Given the description of an element on the screen output the (x, y) to click on. 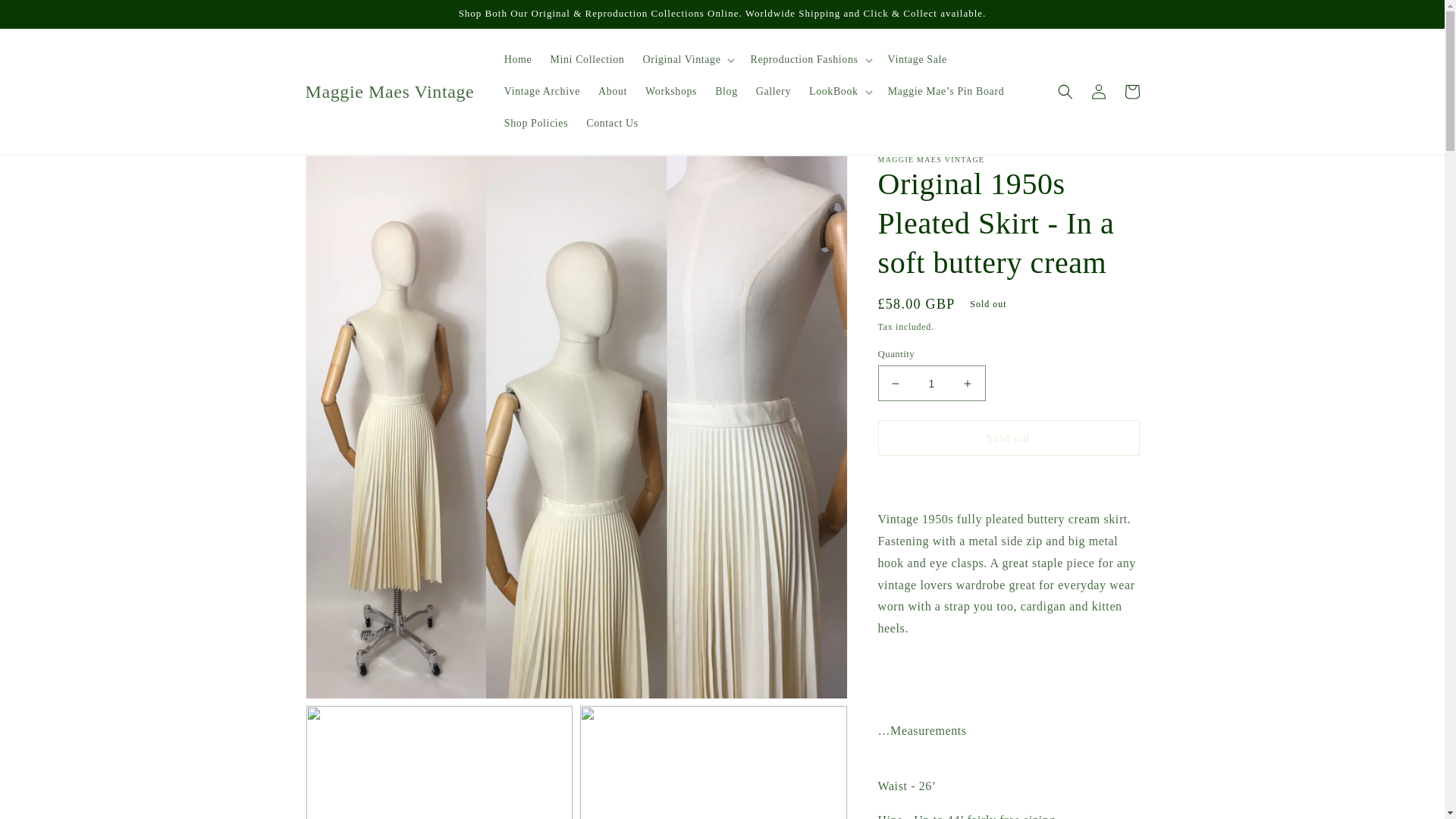
Skip to content (45, 17)
1 (931, 383)
